Given the description of an element on the screen output the (x, y) to click on. 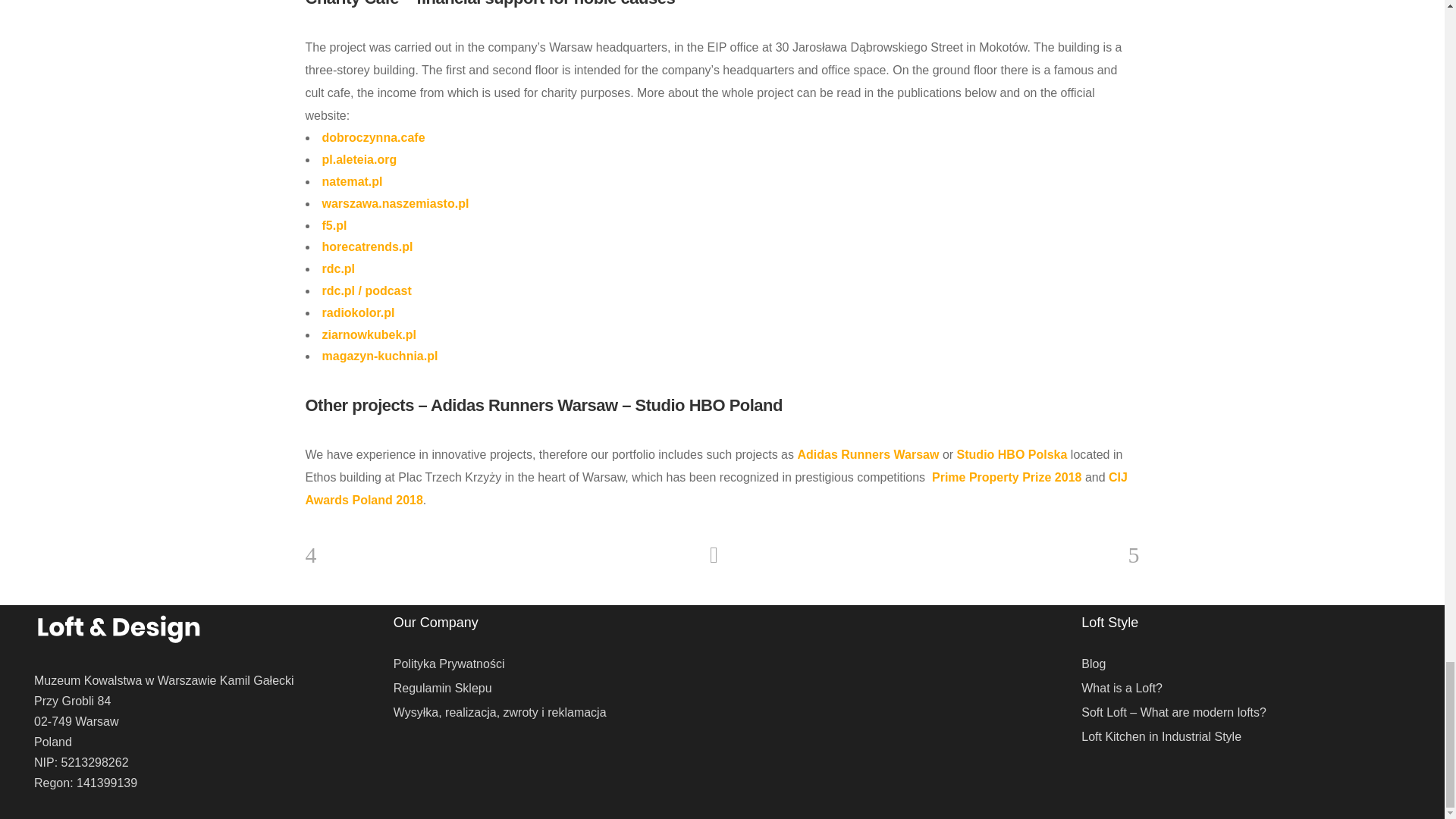
magazyn-kuchnia.pl (379, 355)
ziarnowkubek.pl (367, 334)
dobroczynna.cafe (373, 137)
Prime Property Prize 2018 (1006, 477)
CIJ Awards Poland 2018 (715, 488)
rdc.pl (338, 268)
Adidas Runners Warsaw (867, 454)
Studio HBO Polska (1011, 454)
radiokolor.pl (357, 312)
horecatrends.pl (366, 246)
f5.pl (333, 225)
natemat.pl (351, 181)
pl.aleteia.org (358, 159)
warszawa.naszemiasto.pl (394, 203)
